Given the description of an element on the screen output the (x, y) to click on. 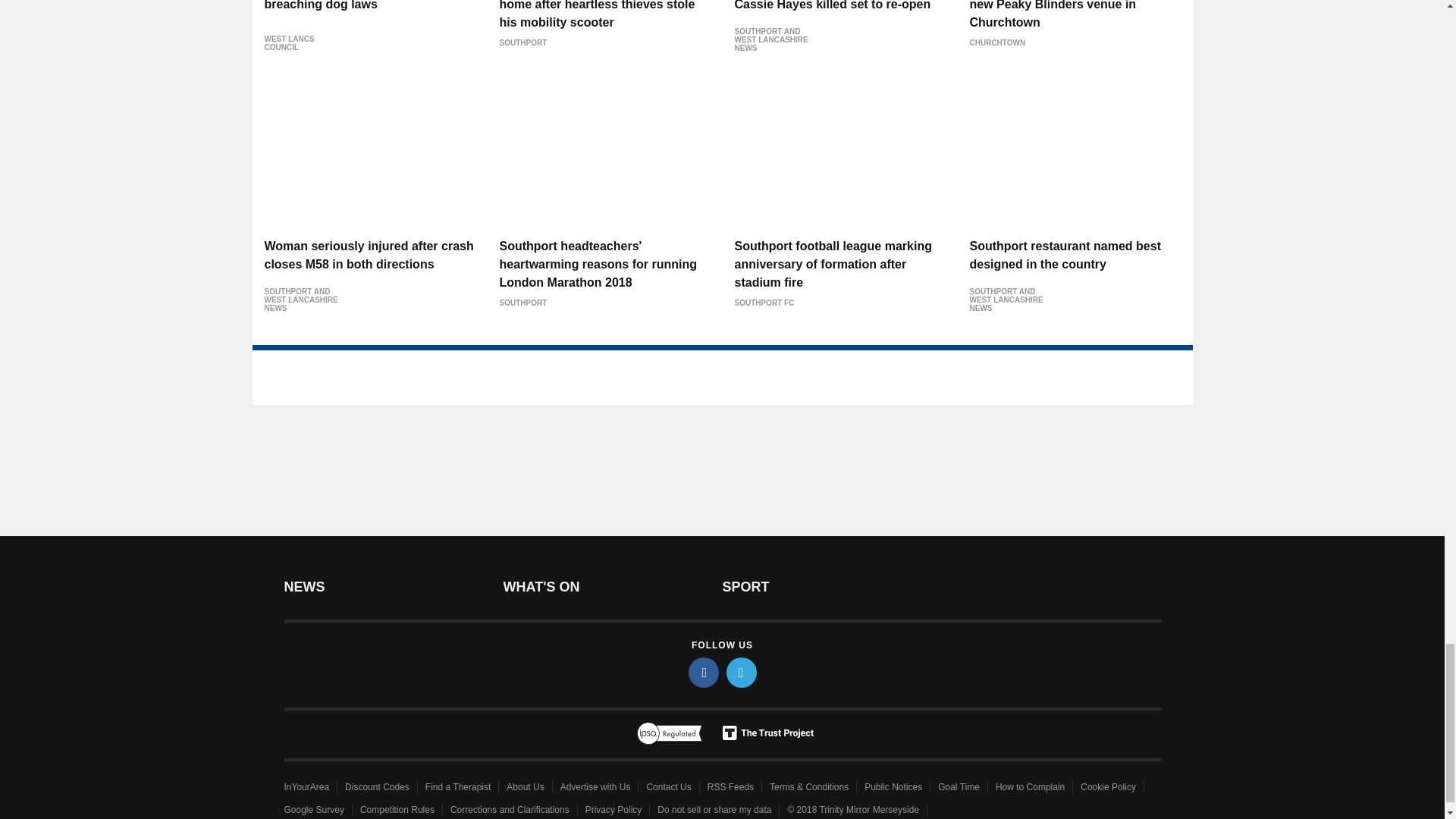
facebook (703, 672)
twitter (741, 672)
